Given the description of an element on the screen output the (x, y) to click on. 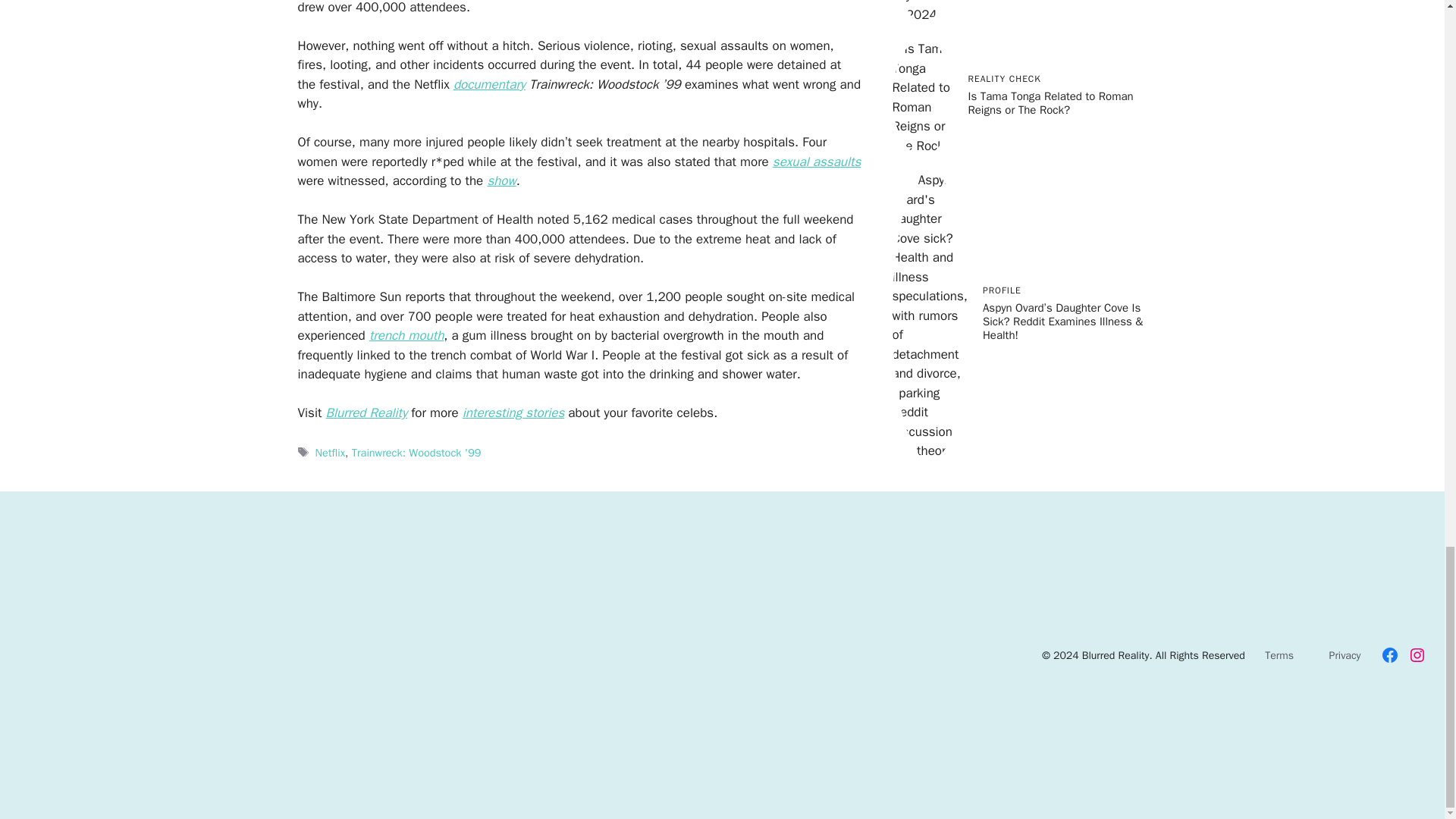
Blurred Reality (366, 412)
show (500, 180)
documentary (488, 84)
Netflix (330, 452)
interesting stories (513, 412)
trench mouth (406, 335)
sexual assaults (816, 161)
Trainwreck: Woodstock '99 (416, 452)
